Given the description of an element on the screen output the (x, y) to click on. 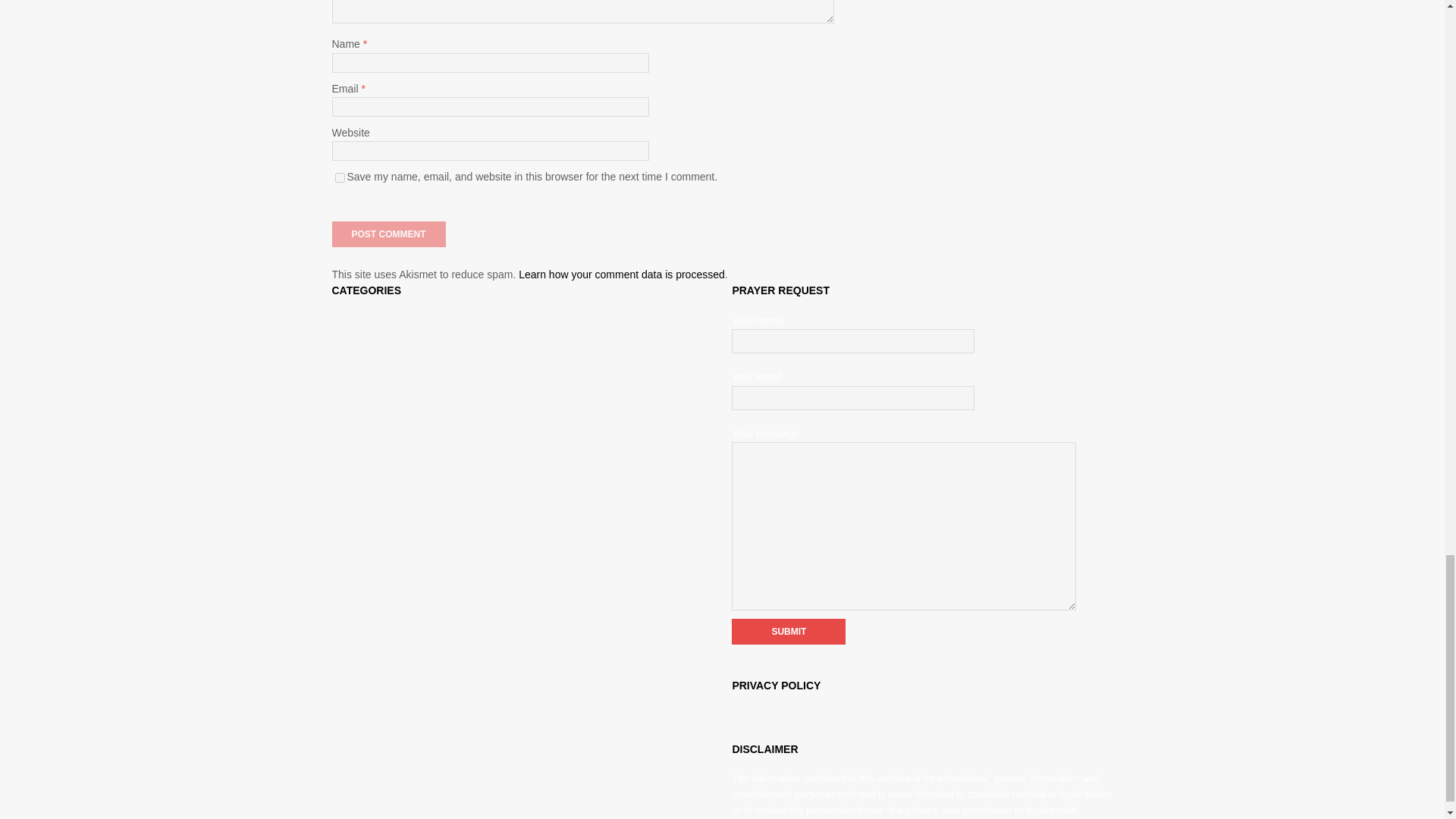
Submit (788, 631)
Post Comment (388, 234)
yes (339, 177)
Post Comment (388, 234)
Learn how your comment data is processed (621, 274)
